Given the description of an element on the screen output the (x, y) to click on. 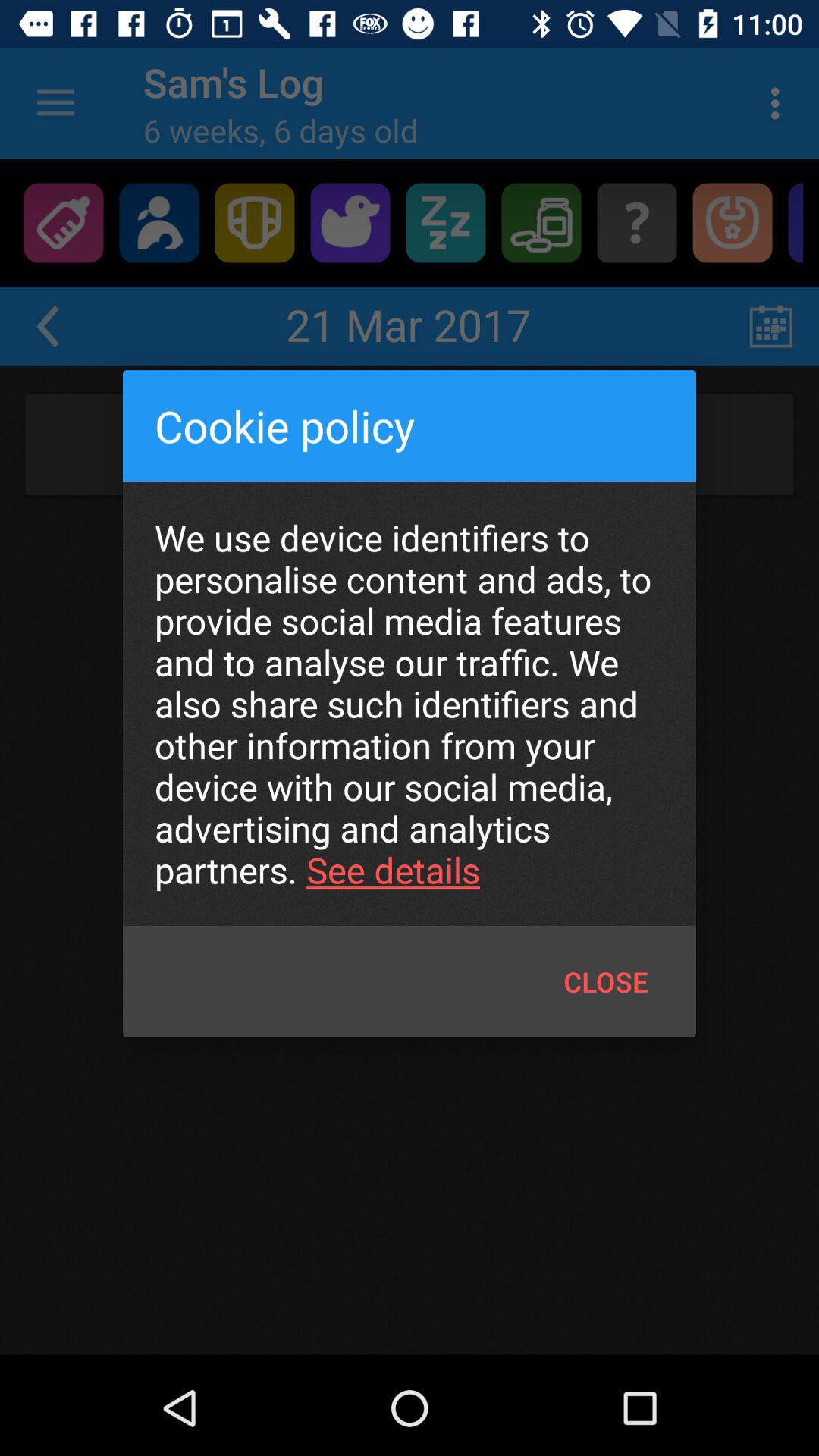
select the item at the bottom right corner (605, 981)
